Given the description of an element on the screen output the (x, y) to click on. 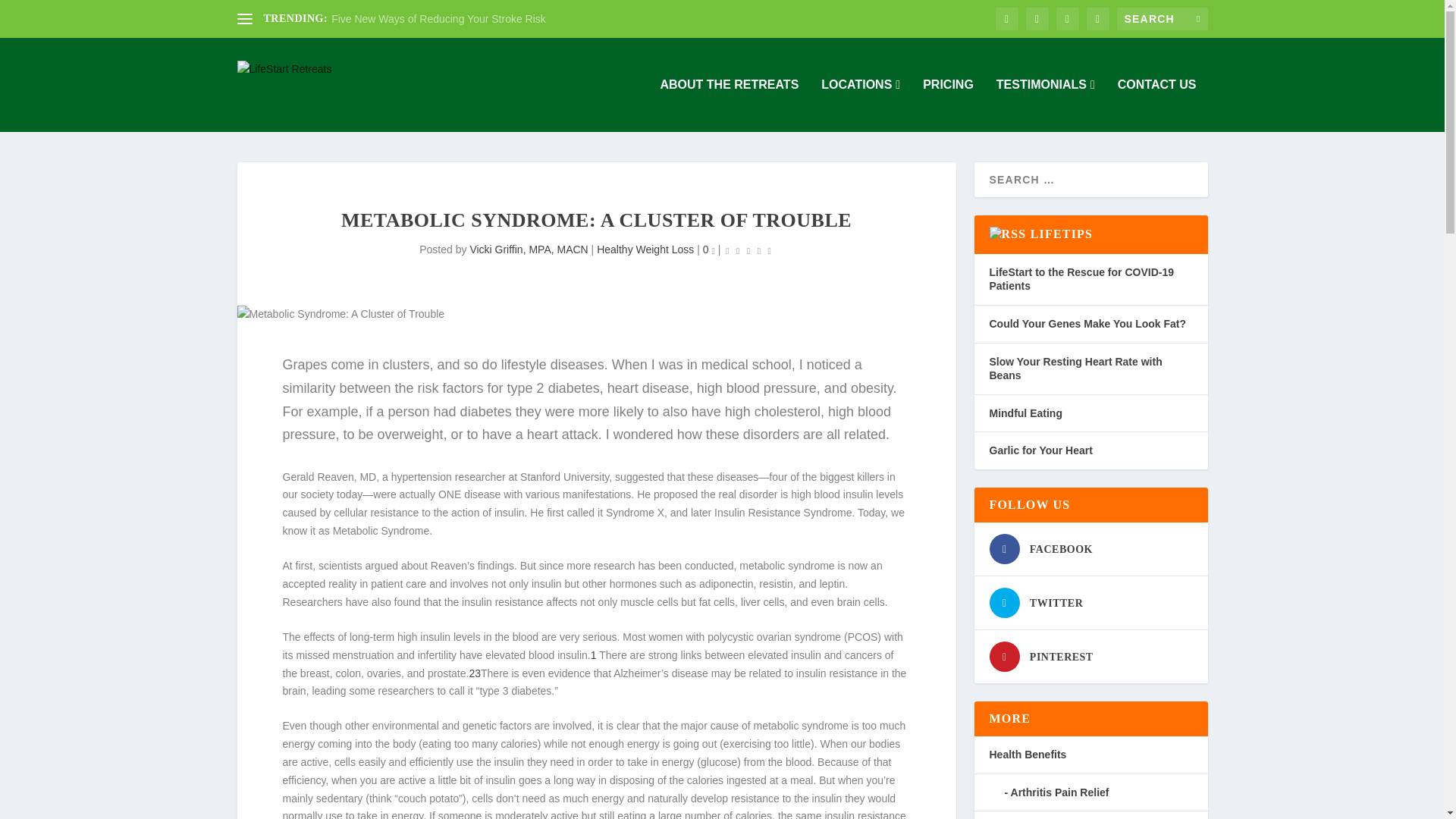
Search for: (1161, 18)
ABOUT THE RETREATS (728, 104)
Five New Ways of Reducing Your Stroke Risk (438, 19)
TESTIMONIALS (1044, 104)
Rating: 0.00 (748, 250)
Posts by Vicki Griffin, MPA, MACN (528, 249)
LOCATIONS (860, 104)
PRICING (948, 104)
